Given the description of an element on the screen output the (x, y) to click on. 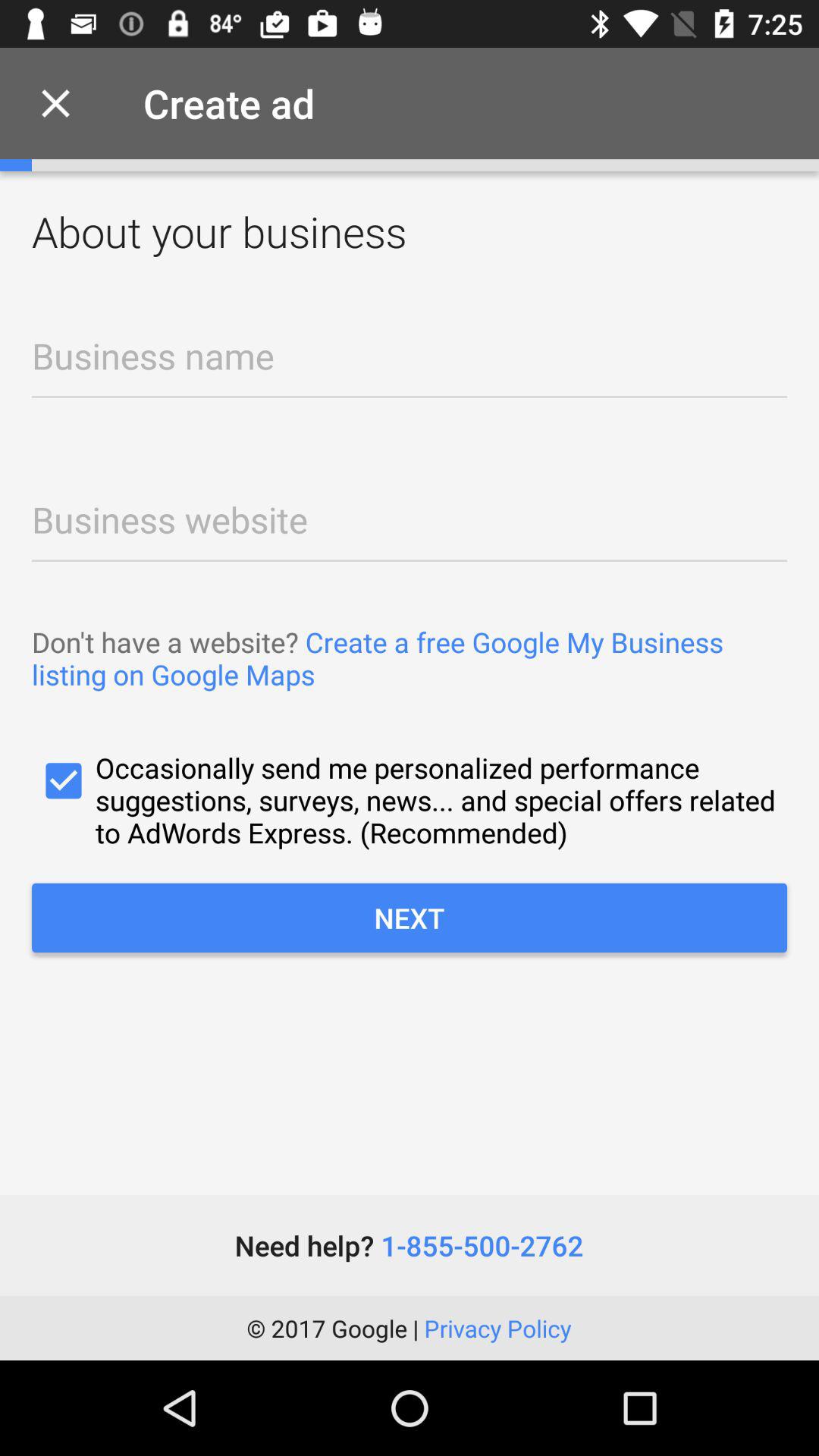
launch the next (409, 917)
